Given the description of an element on the screen output the (x, y) to click on. 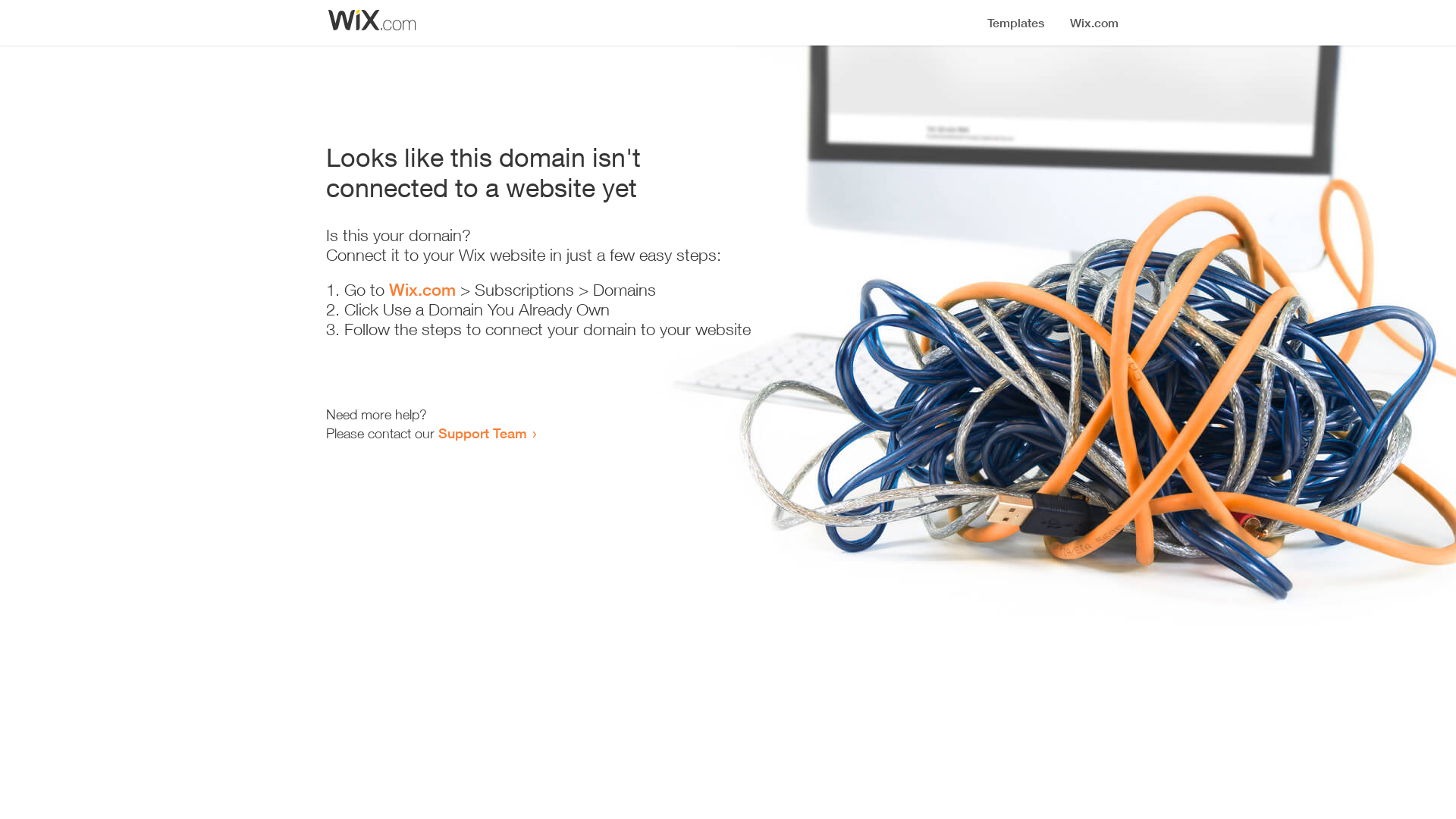
Support Team Element type: text (482, 432)
Wix.com Element type: text (422, 289)
